Given the description of an element on the screen output the (x, y) to click on. 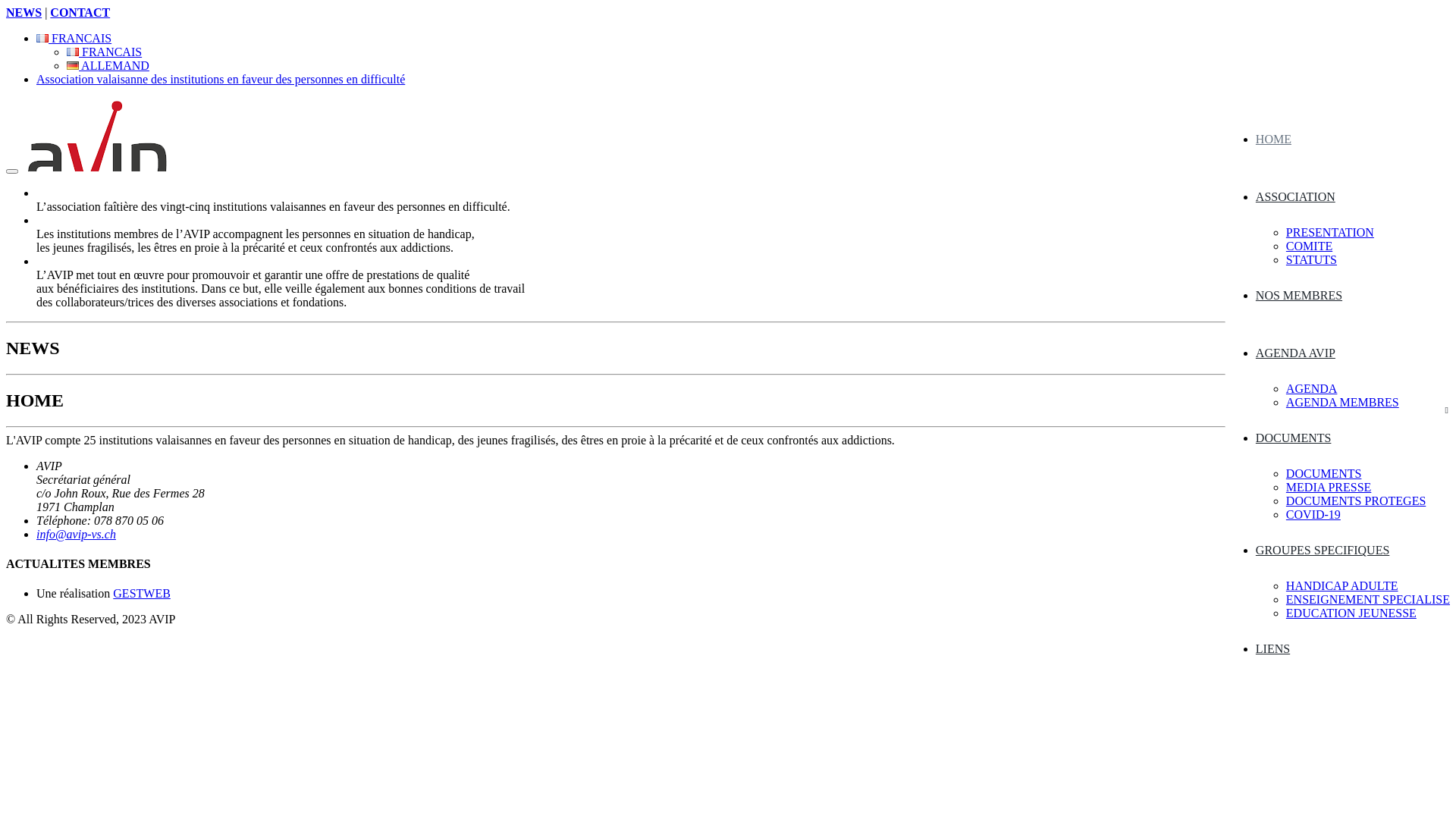
AGENDA MEMBRES Element type: text (1342, 401)
FRANCAIS Element type: text (103, 51)
DOCUMENTS Element type: text (1302, 437)
ASSOCIATION Element type: text (1304, 196)
DOCUMENTS Element type: text (1323, 473)
info@avip-vs.ch Element type: text (76, 533)
DOCUMENTS PROTEGES Element type: text (1355, 500)
HOME Element type: text (1273, 138)
HANDICAP ADULTE Element type: text (1342, 585)
MEDIA PRESSE Element type: text (1328, 486)
FRANCAIS Element type: text (73, 37)
EDUCATION JEUNESSE Element type: text (1351, 612)
ALLEMAND Element type: text (107, 65)
NEWS Element type: text (23, 12)
NOS MEMBRES Element type: text (1298, 294)
COMITE Element type: text (1309, 245)
GESTWEB Element type: text (141, 592)
GROUPES SPECIFIQUES Element type: text (1331, 549)
STATUTS Element type: text (1311, 259)
COVID-19 Element type: text (1313, 514)
ENSEIGNEMENT SPECIALISE Element type: text (1367, 599)
AGENDA AVIP Element type: text (1304, 352)
CONTACT Element type: text (79, 12)
AGENDA Element type: text (1311, 388)
LIENS Element type: text (1272, 648)
PRESENTATION Element type: text (1330, 231)
